Given the description of an element on the screen output the (x, y) to click on. 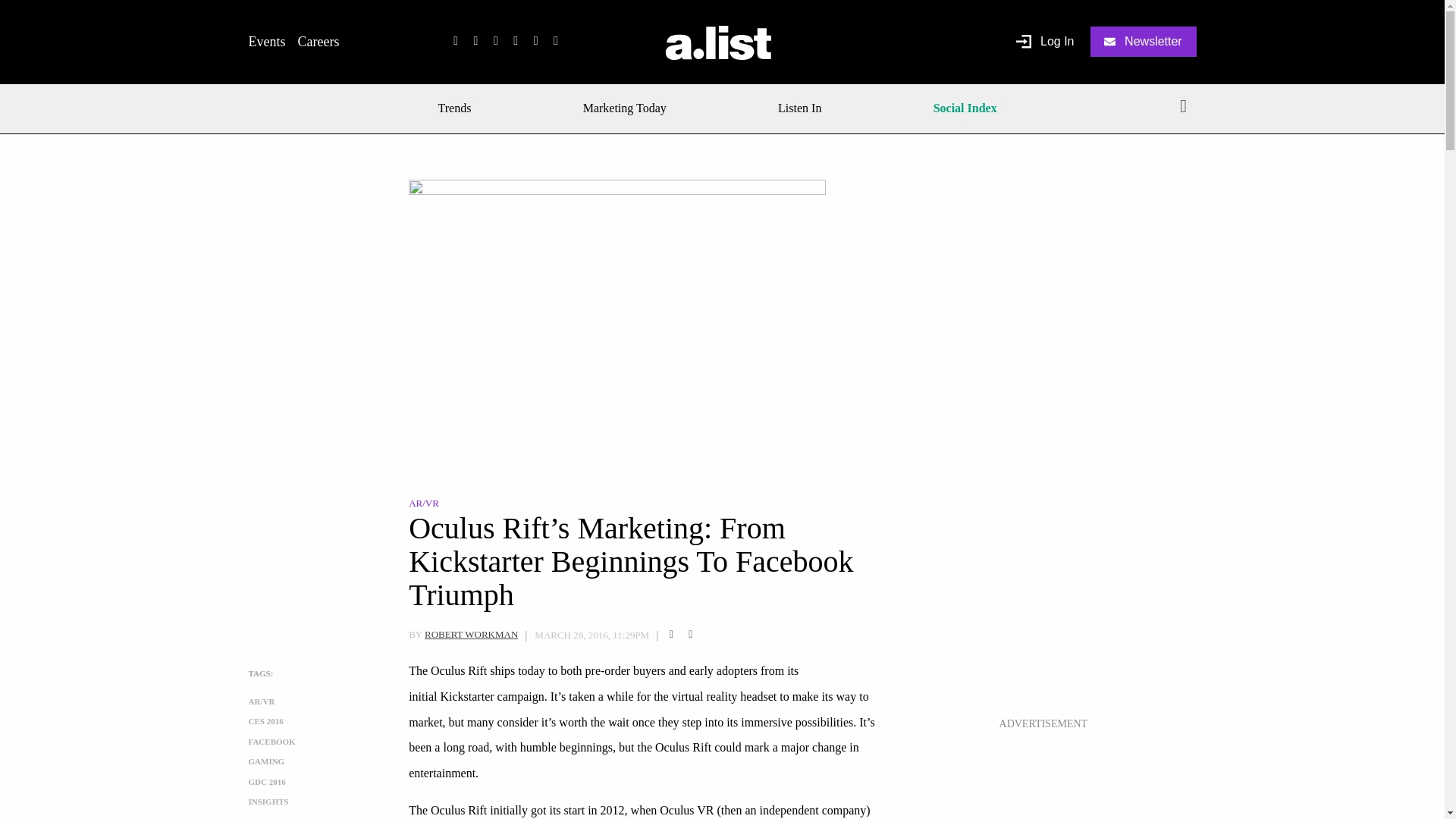
Careers (318, 41)
Newsletter (1143, 41)
Marketing Today (625, 108)
Social Index (965, 108)
Listen In (799, 108)
Events (266, 41)
Log In (1045, 42)
Trends (459, 108)
